Given the description of an element on the screen output the (x, y) to click on. 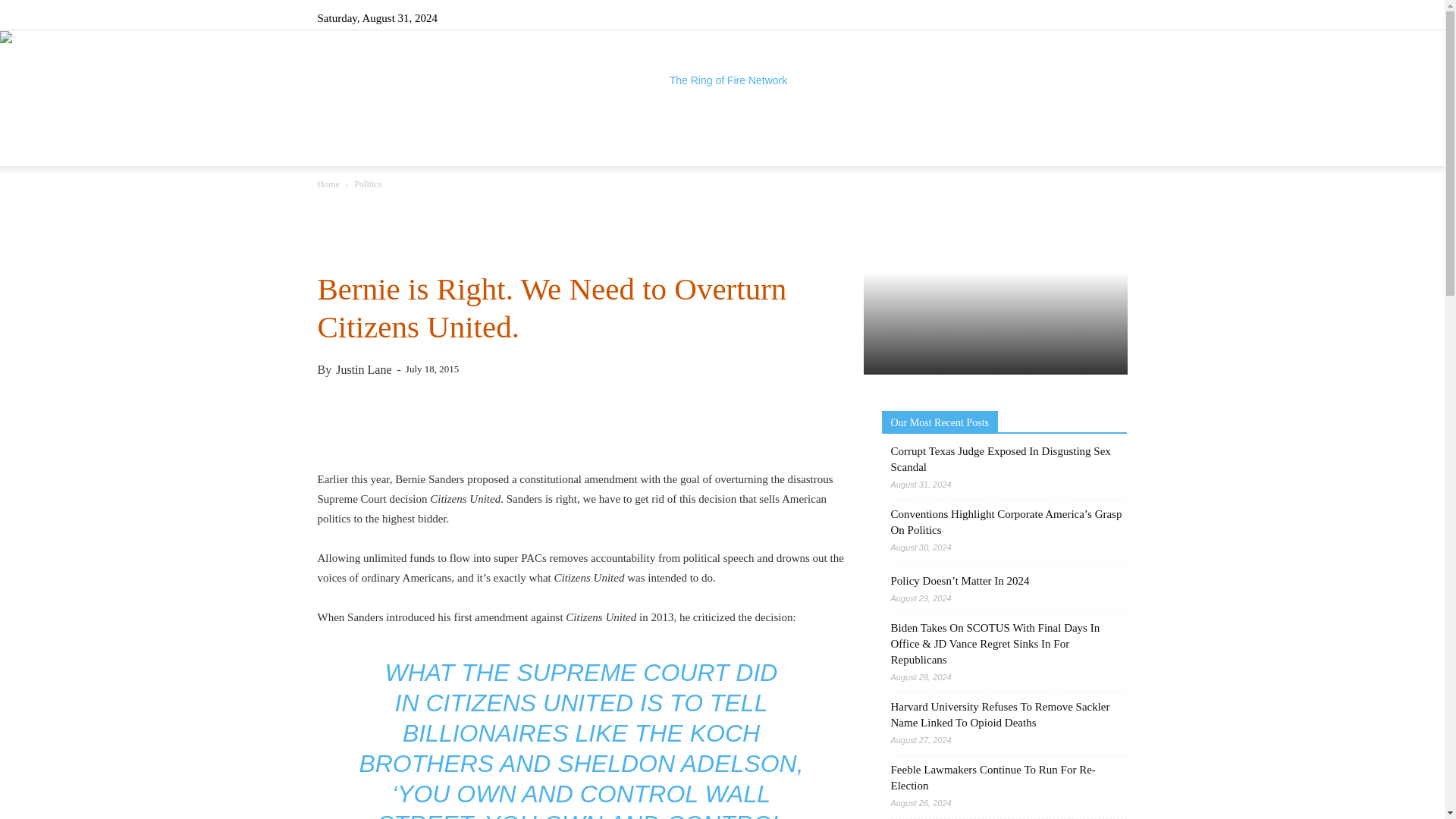
Facebook (1015, 17)
Twitter (1090, 17)
Instagram (1040, 17)
RSS (1065, 17)
Youtube (1114, 17)
